Given the description of an element on the screen output the (x, y) to click on. 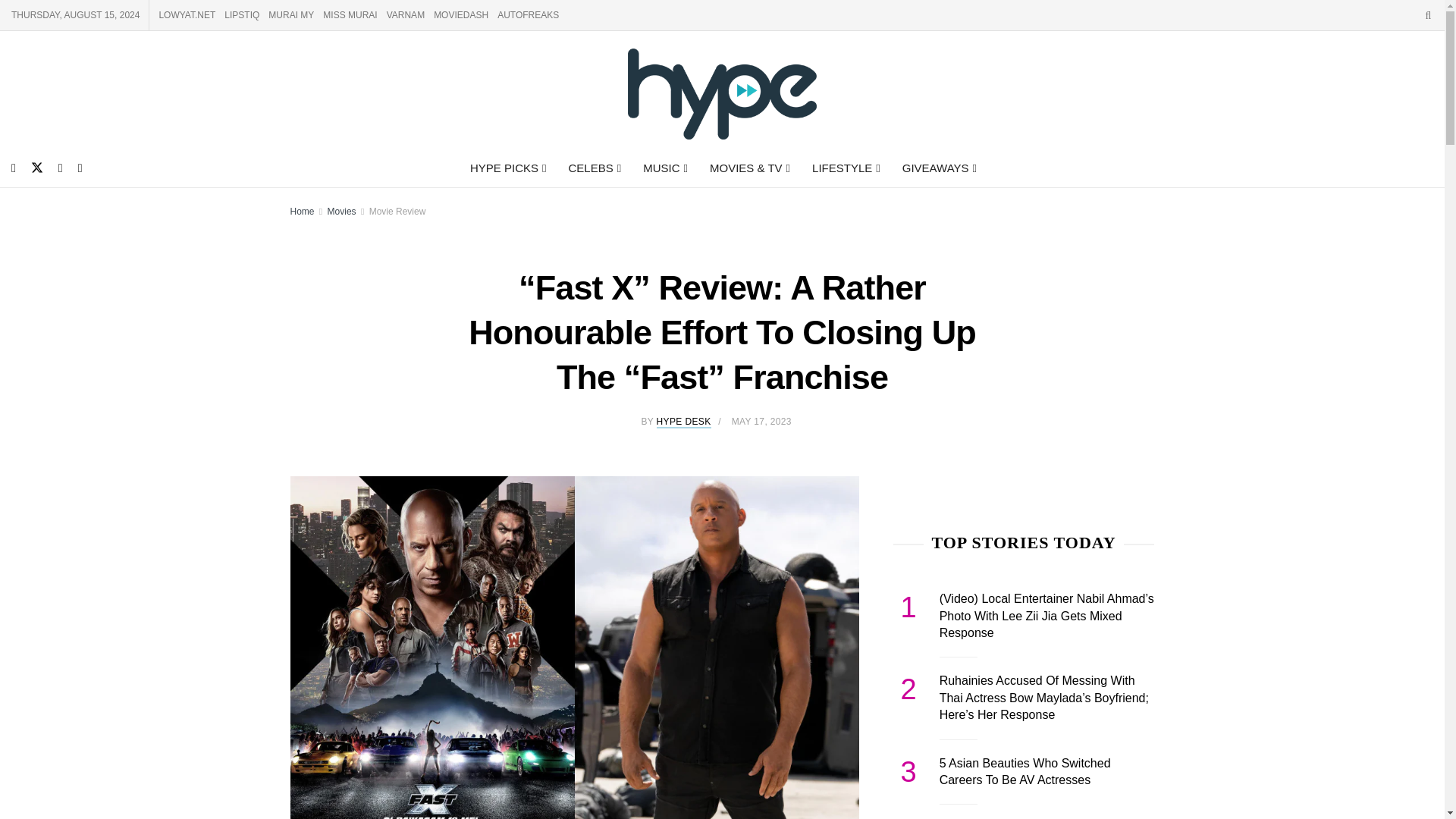
MUSIC (663, 168)
LIFESTYLE (844, 168)
GIVEAWAYS (938, 168)
VARNAM (406, 15)
CELEBS (593, 168)
MURAI MY (290, 15)
AUTOFREAKS (528, 15)
HYPE PICKS (507, 168)
LIPSTIQ (241, 15)
LOWYAT.NET (186, 15)
